Given the description of an element on the screen output the (x, y) to click on. 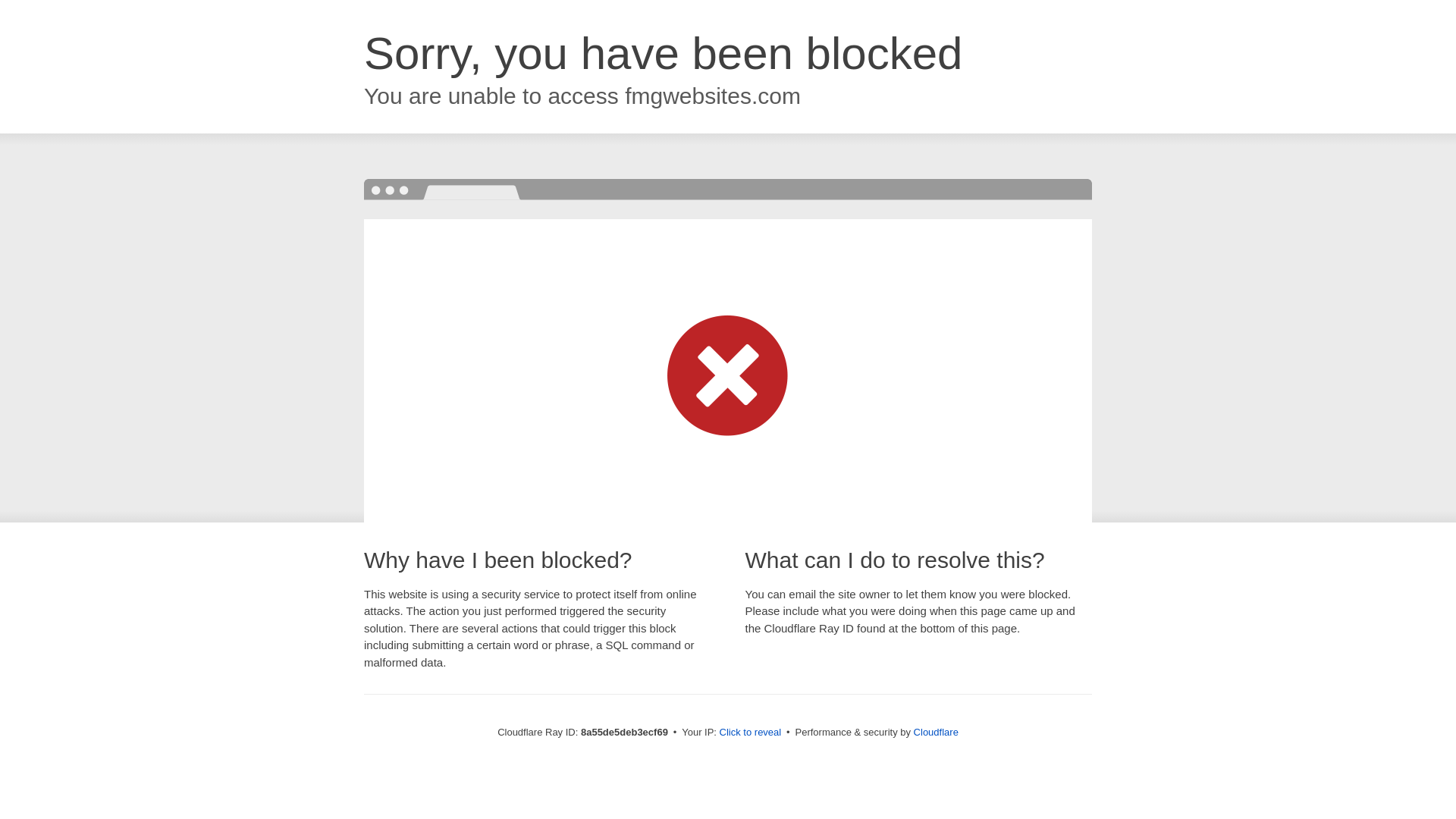
Click to reveal (750, 732)
Cloudflare (936, 731)
